Given the description of an element on the screen output the (x, y) to click on. 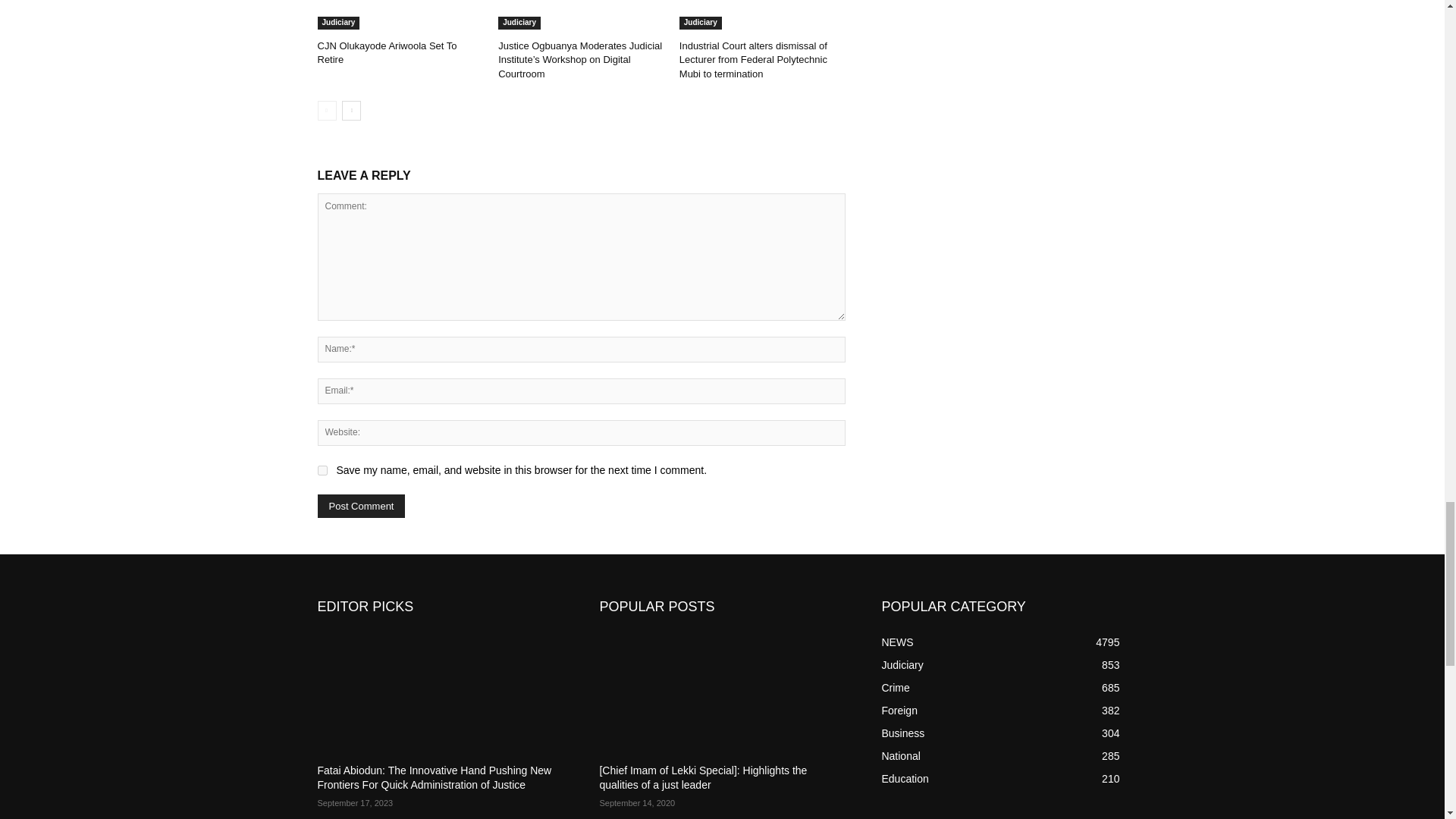
yes (321, 470)
Post Comment (360, 505)
